Given the description of an element on the screen output the (x, y) to click on. 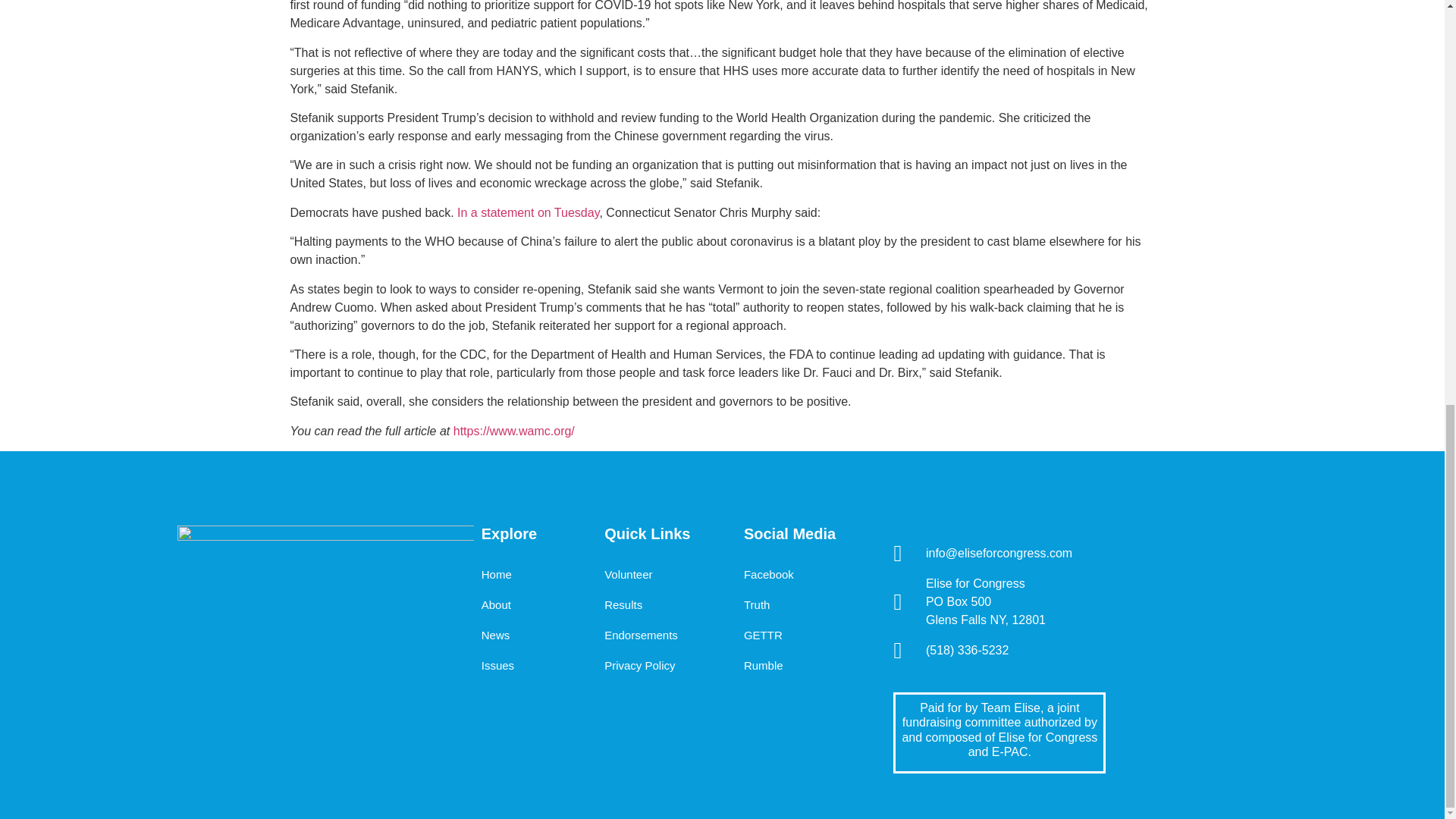
Results (623, 604)
Endorsements (641, 634)
About (496, 604)
Privacy Policy (639, 665)
Volunteer (628, 574)
In a statement on Tuesday (527, 212)
Home (496, 574)
News (496, 634)
Issues (497, 665)
Facebook (768, 574)
